Given the description of an element on the screen output the (x, y) to click on. 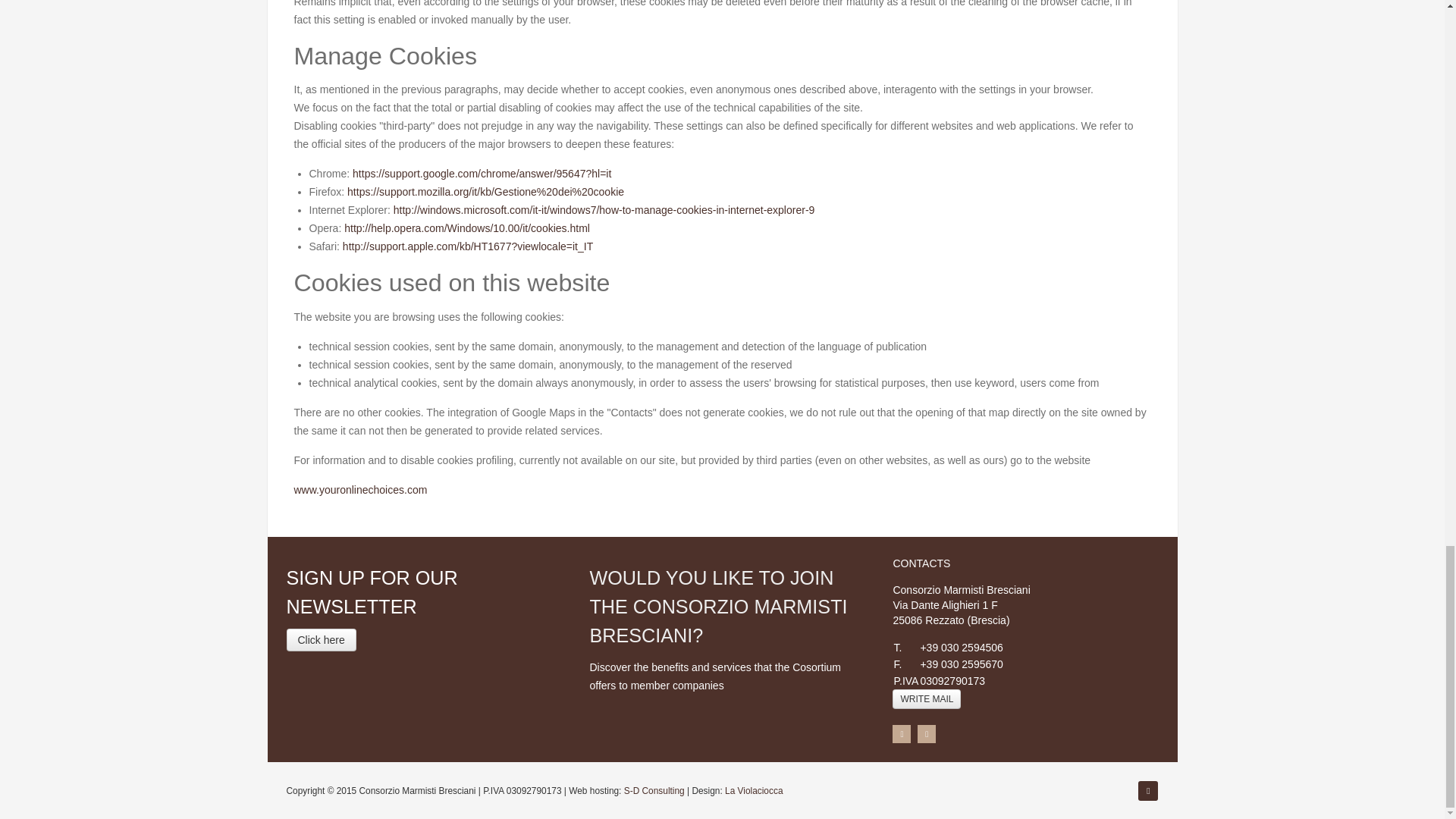
www.youronlinechoices.com (361, 489)
Click here (321, 639)
La Violaciocca (754, 789)
S-D Consulting (654, 789)
WOULD YOU LIKE TO JOIN THE CONSORZIO MARMISTI BRESCIANI? (718, 606)
WRITE MAIL (926, 699)
